Given the description of an element on the screen output the (x, y) to click on. 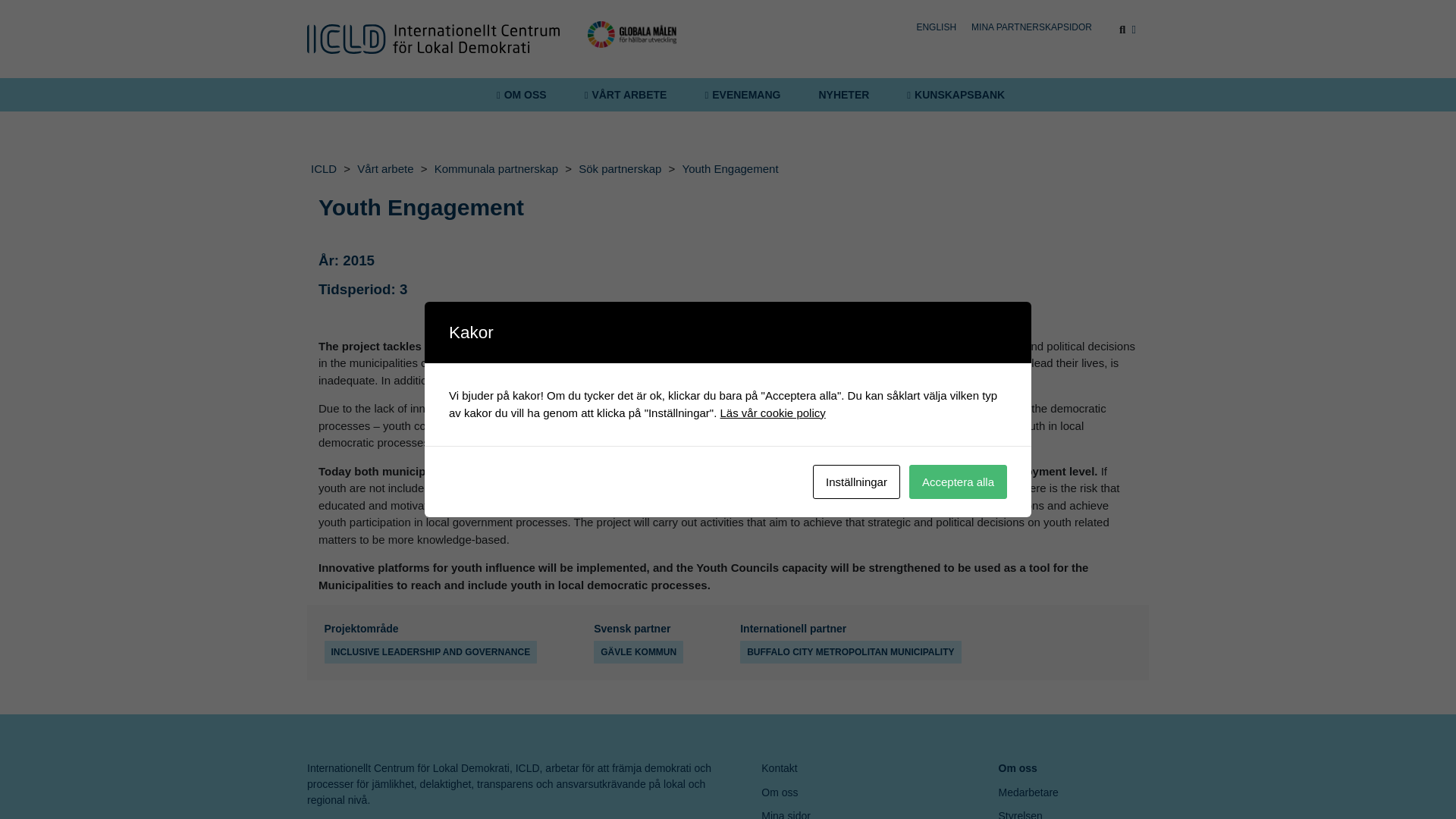
ENGLISH (935, 26)
MINA PARTNERSKAPSIDOR (1031, 26)
Go to Youth Engagement. (729, 169)
Go to Kommunala partnerskap. (496, 169)
OM OSS (520, 94)
Go to ICLD. (323, 168)
